Given the description of an element on the screen output the (x, y) to click on. 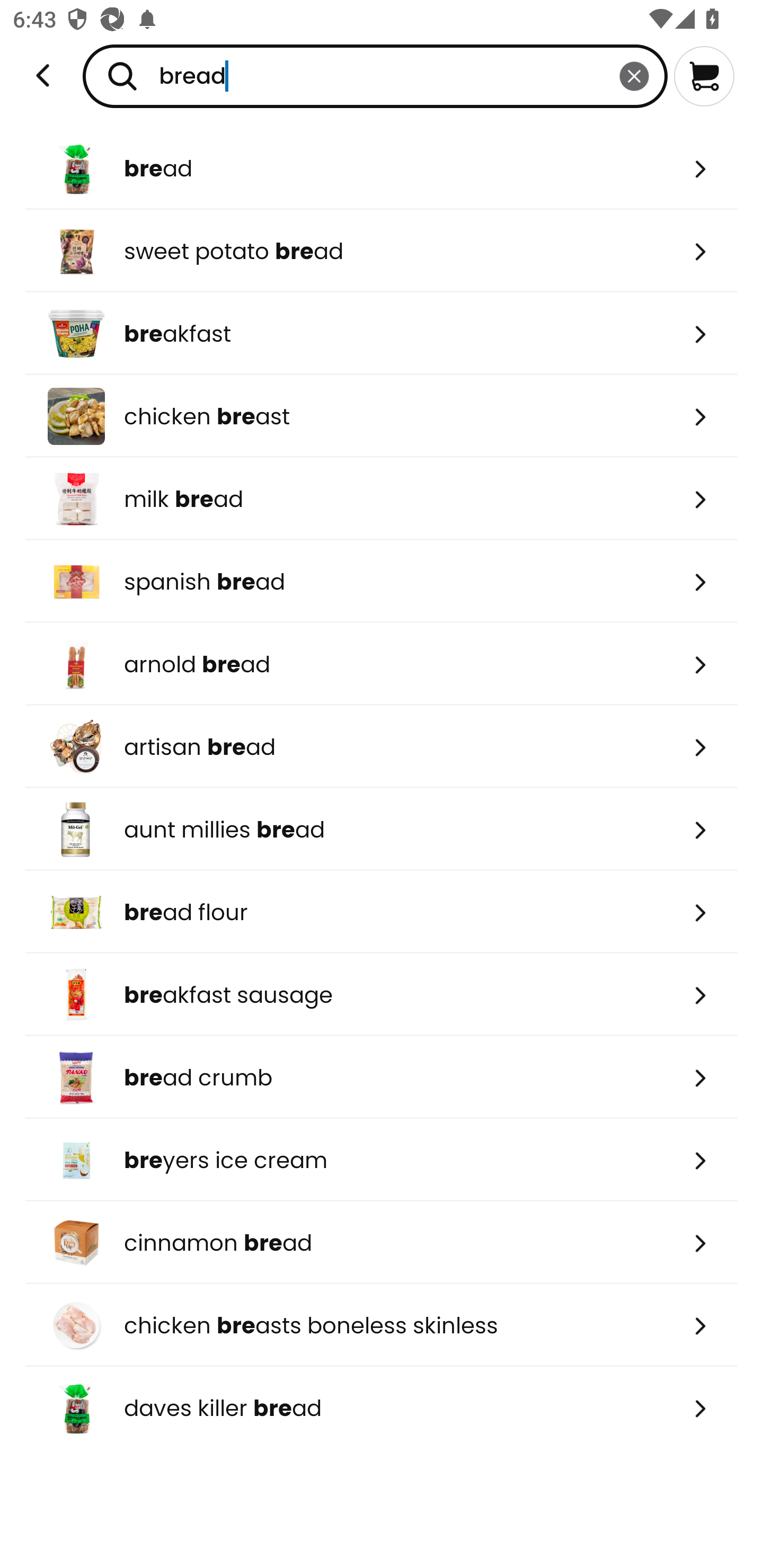
bread (374, 75)
Weee! (42, 76)
bread (381, 168)
sweet potato bread (381, 250)
breakfast (381, 332)
chicken breast (381, 415)
milk bread (381, 498)
spanish bread (381, 581)
arnold bread (381, 663)
artisan bread (381, 746)
aunt millies bread (381, 829)
bread flour (381, 911)
breakfast sausage (381, 994)
bread crumb (381, 1077)
breyers ice cream (381, 1160)
cinnamon bread (381, 1242)
chicken breasts boneless skinless (381, 1325)
daves killer bread (381, 1407)
